Given the description of an element on the screen output the (x, y) to click on. 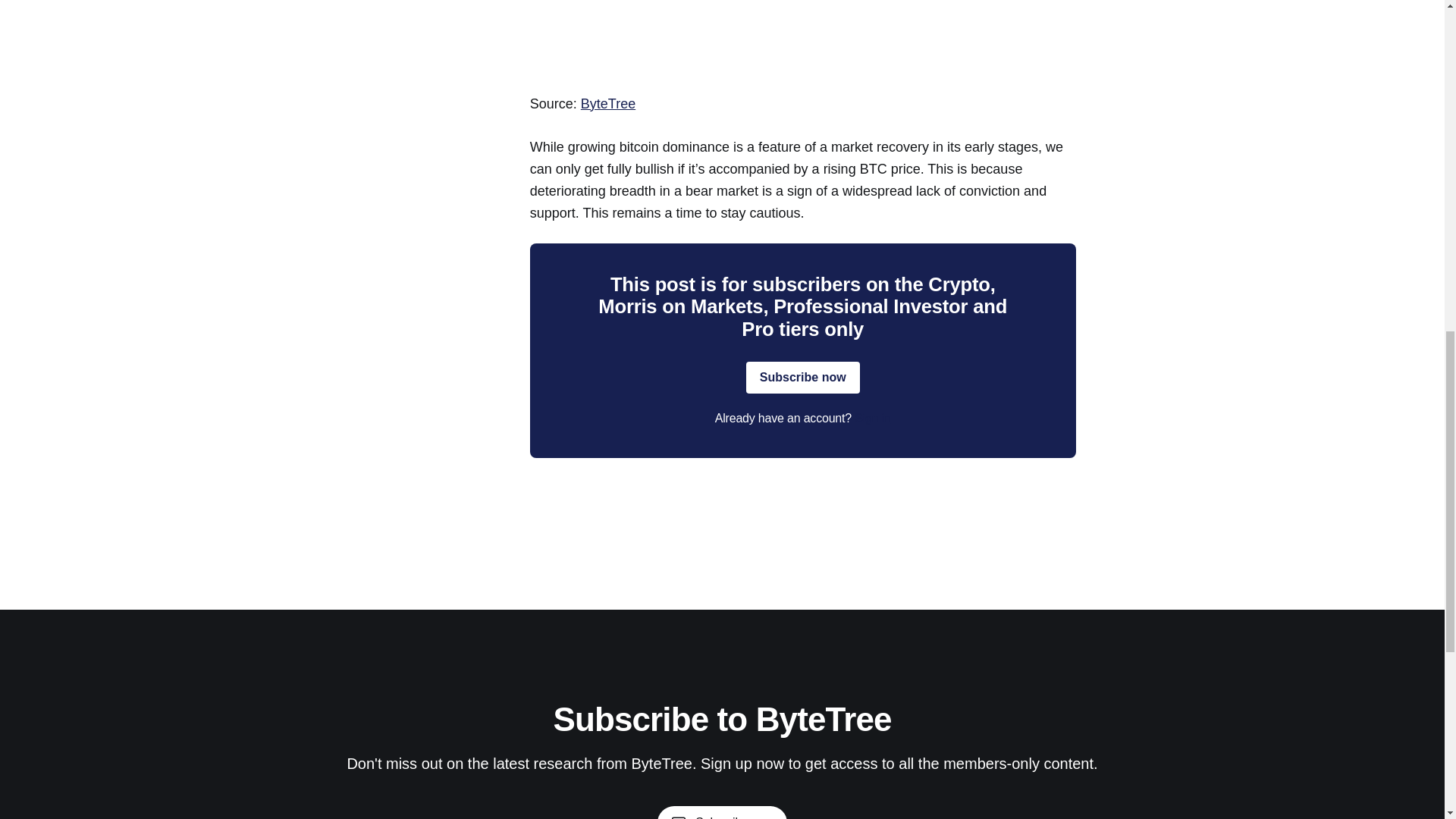
Sign in (872, 418)
Subscribe now (802, 377)
Subscribe now (722, 812)
ByteTree (607, 103)
